Given the description of an element on the screen output the (x, y) to click on. 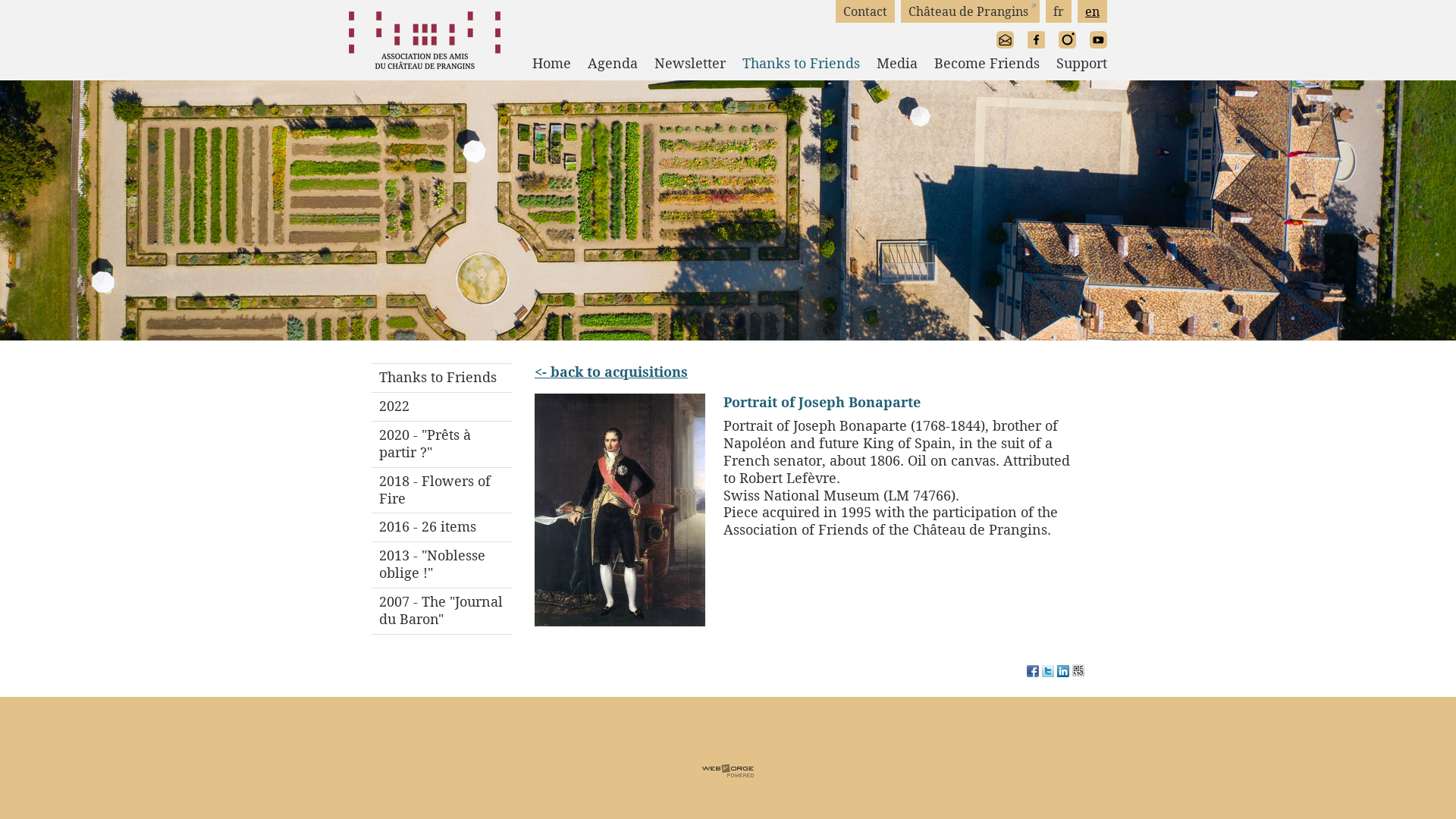
fr Element type: text (1058, 11)
Partager sur Twitter Element type: hover (1047, 672)
Support Element type: text (1073, 63)
Afficher le QR-Code Element type: hover (1078, 672)
Media Element type: text (888, 63)
Partager sur Facebook Element type: hover (1032, 672)
<- back to acquisitions Element type: text (610, 371)
Home Element type: text (543, 63)
Partager sur LinkedIn Element type: hover (1063, 672)
Contact Element type: text (864, 11)
2018 - Flowers of Fire Element type: text (441, 490)
2022 Element type: text (441, 406)
Newsletter Element type: text (681, 63)
2007 - The "Journal du Baron" Element type: text (441, 610)
Thanks to Friends Element type: text (441, 378)
2013 - "Noblesse oblige !" Element type: text (441, 564)
2016 - 26 items Element type: text (441, 526)
Become Friends Element type: text (978, 63)
Thanks to Friends Element type: text (792, 63)
Agenda Element type: text (604, 63)
en Element type: text (1092, 11)
